Given the description of an element on the screen output the (x, y) to click on. 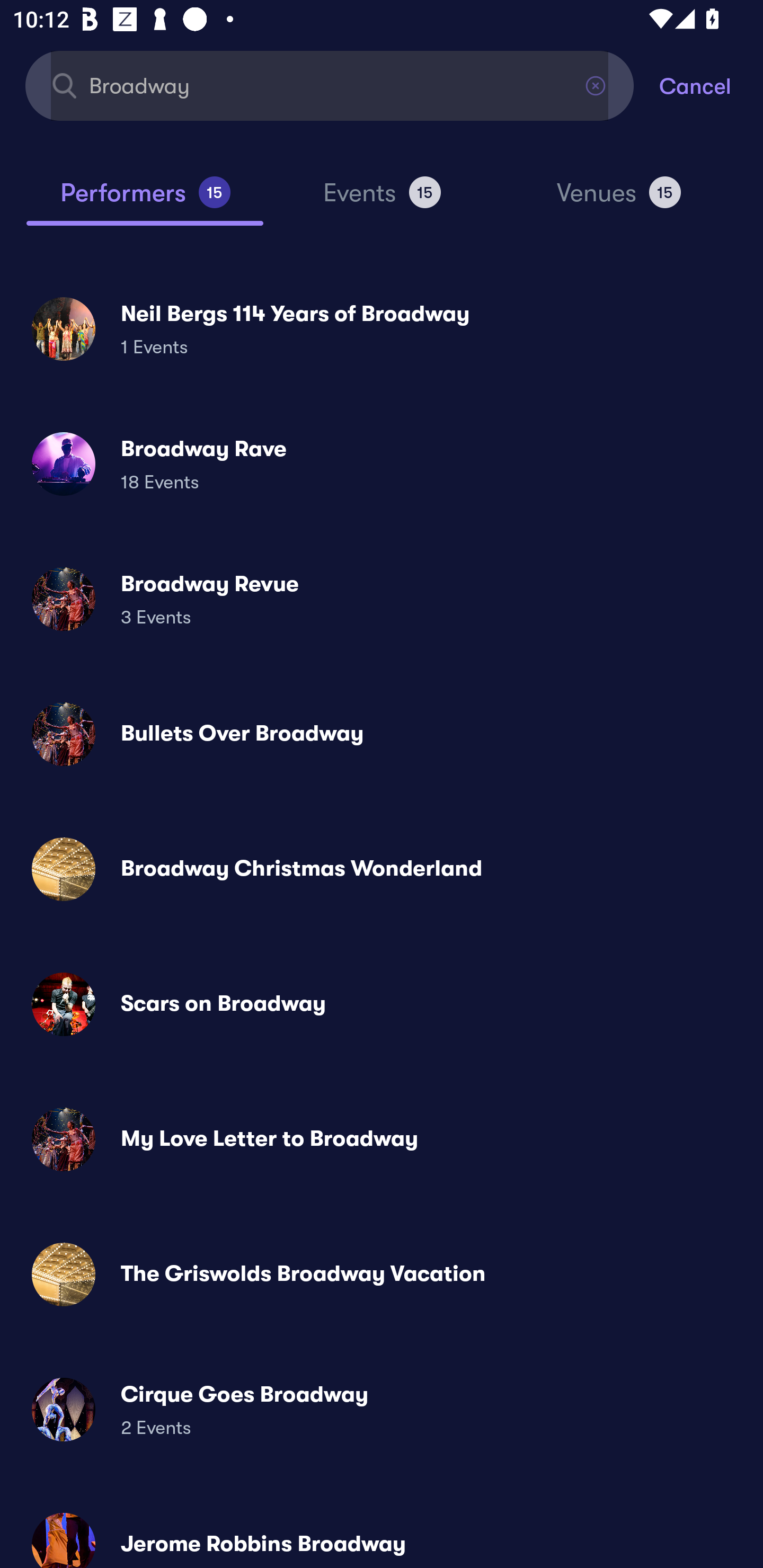
Broadway Find (329, 85)
Broadway Find (329, 85)
Cancel (711, 85)
Performers 15 (144, 200)
Events 15 (381, 200)
Venues 15 (618, 200)
Neil Bergs 114 Years of Broadway 1 Events (381, 328)
Broadway Rave 18 Events (381, 464)
Broadway Revue 3 Events (381, 598)
Bullets Over Broadway (381, 734)
Broadway Christmas Wonderland (381, 869)
Scars on Broadway (381, 1004)
My Love Letter to Broadway (381, 1138)
The Griswolds Broadway Vacation (381, 1273)
Cirque Goes Broadway 2 Events (381, 1409)
Jerome Robbins Broadway (381, 1532)
